Given the description of an element on the screen output the (x, y) to click on. 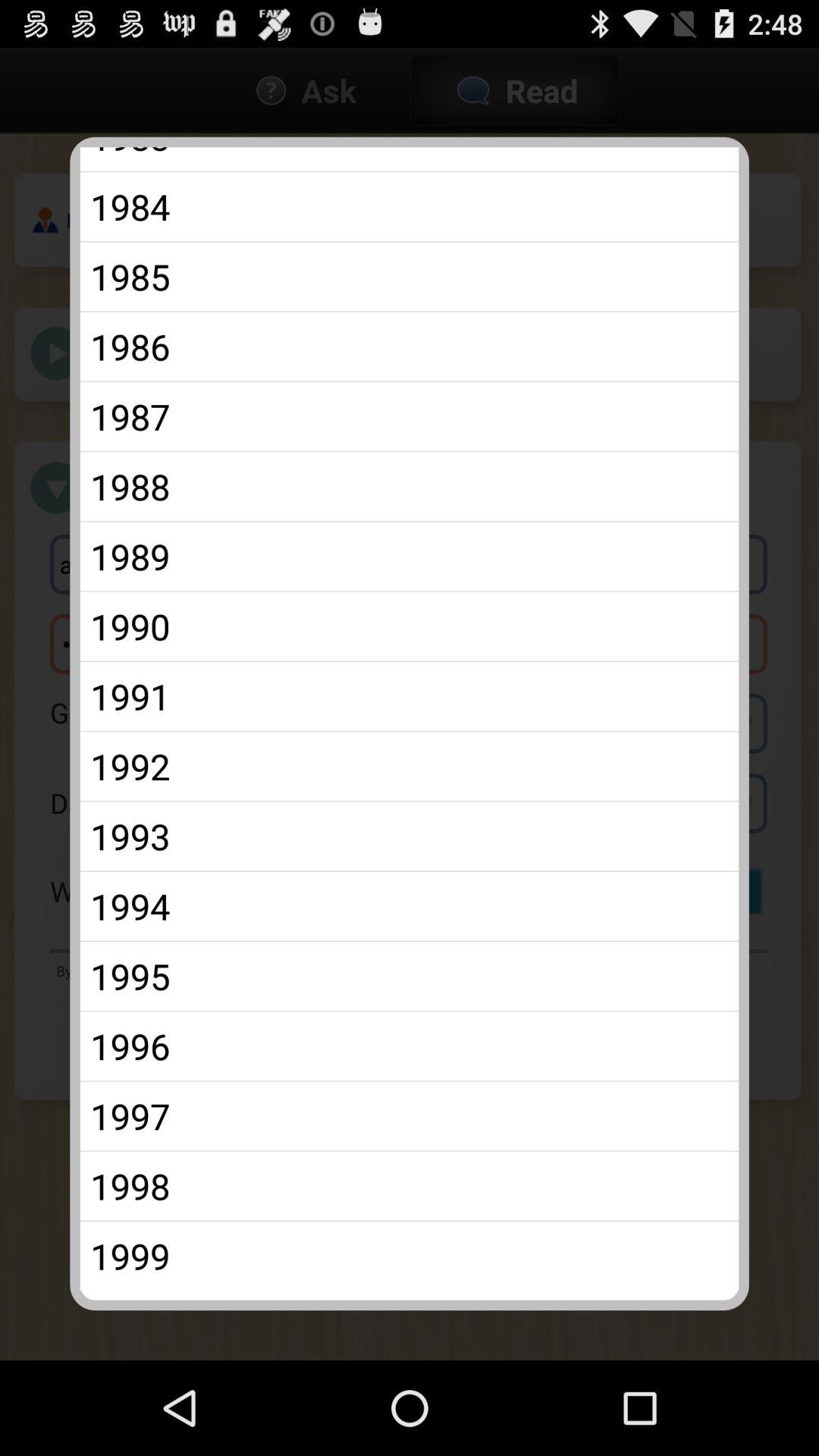
jump to 1989 (409, 556)
